Given the description of an element on the screen output the (x, y) to click on. 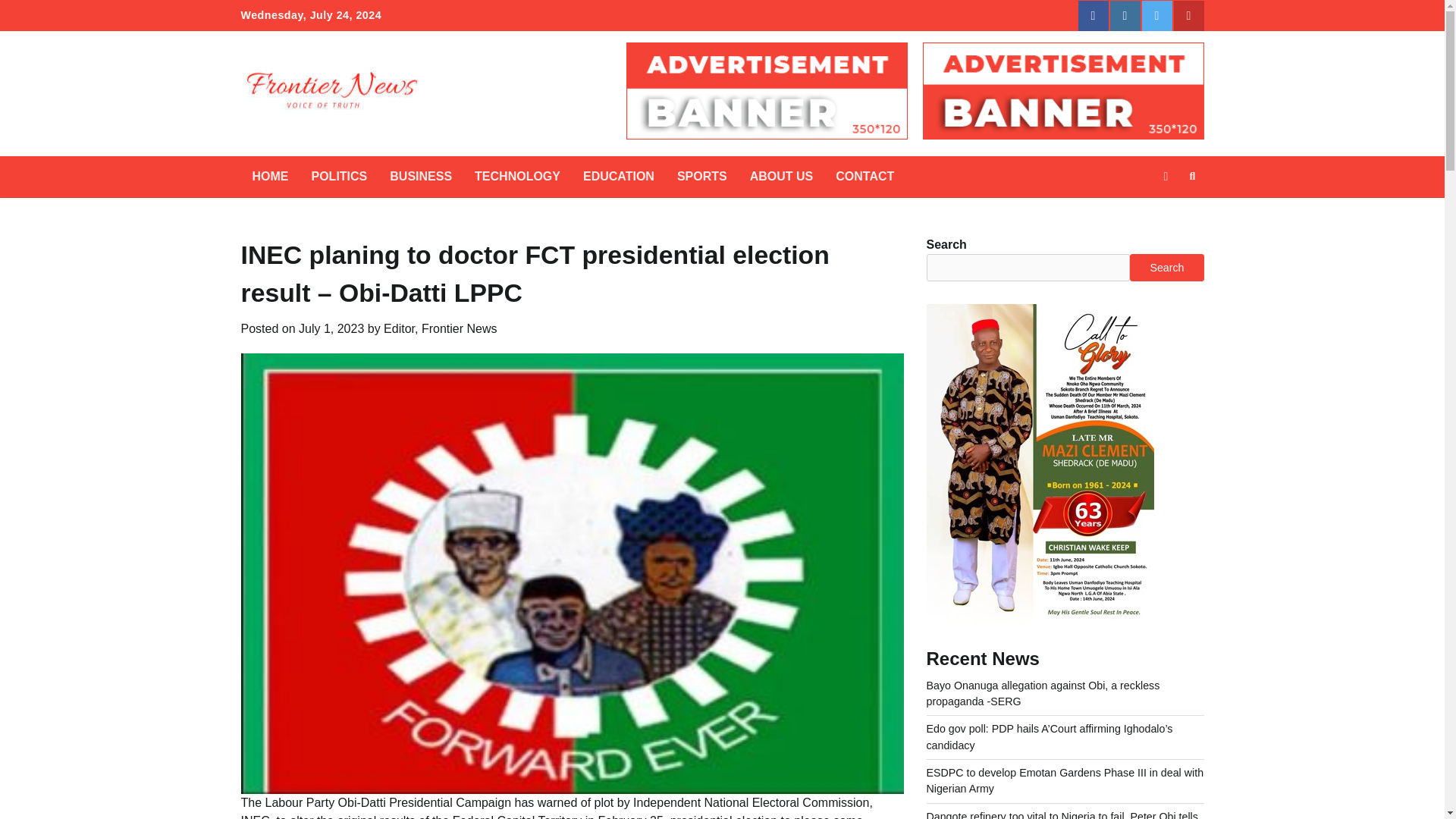
SPORTS (701, 176)
BUSINESS (420, 176)
View Random Post (1165, 176)
youtube (1188, 15)
HOME (270, 176)
TECHNOLOGY (517, 176)
EDUCATION (618, 176)
Search (1192, 176)
CONTACT (864, 176)
ABOUT US (781, 176)
July 1, 2023 (331, 328)
instagram (1124, 15)
Editor, Frontier News (440, 328)
Search (1164, 212)
twitter (1156, 15)
